Given the description of an element on the screen output the (x, y) to click on. 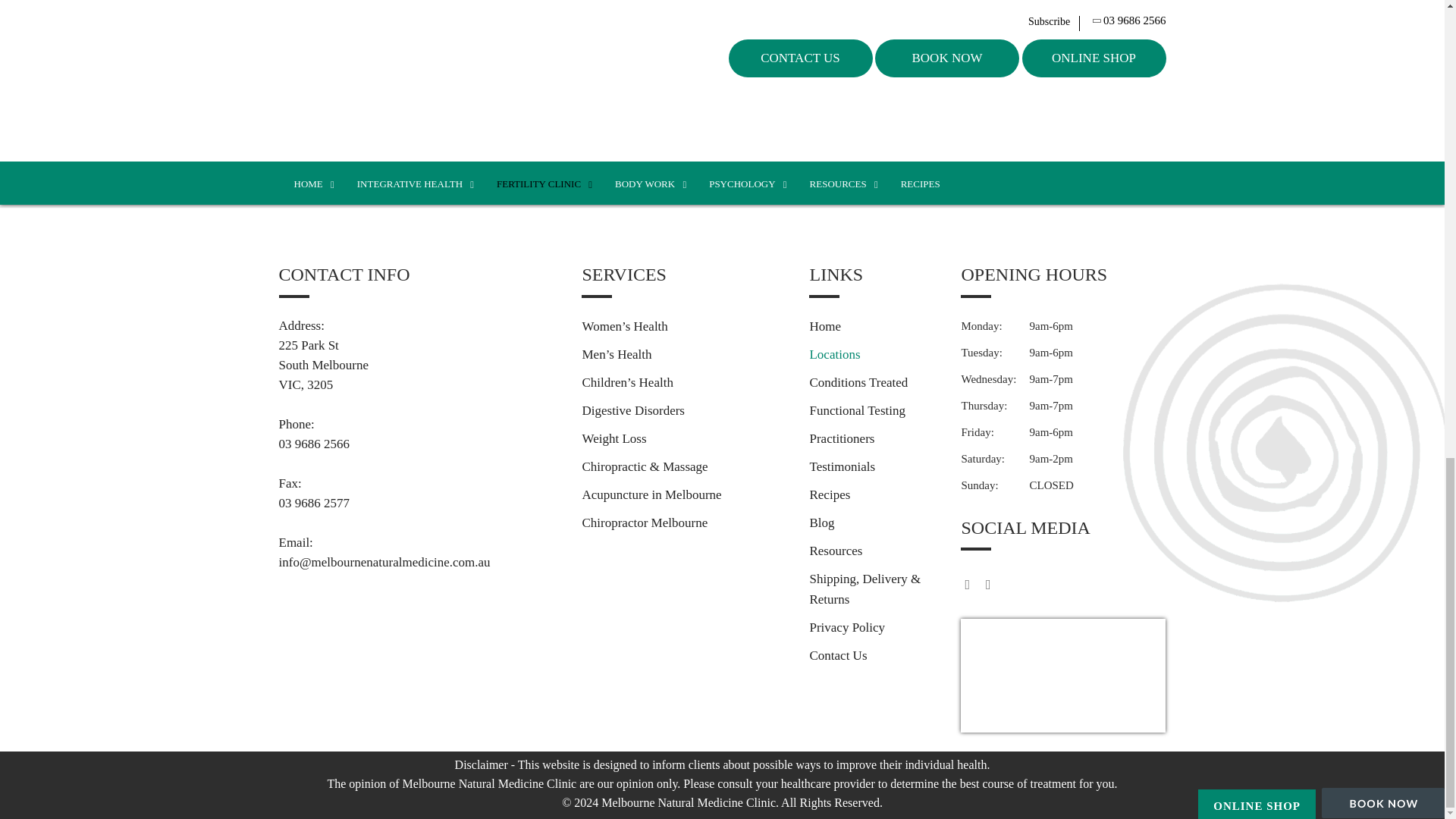
03 9686 2566 (419, 444)
Sign up (1105, 98)
03 9686 2577 (419, 503)
